Given the description of an element on the screen output the (x, y) to click on. 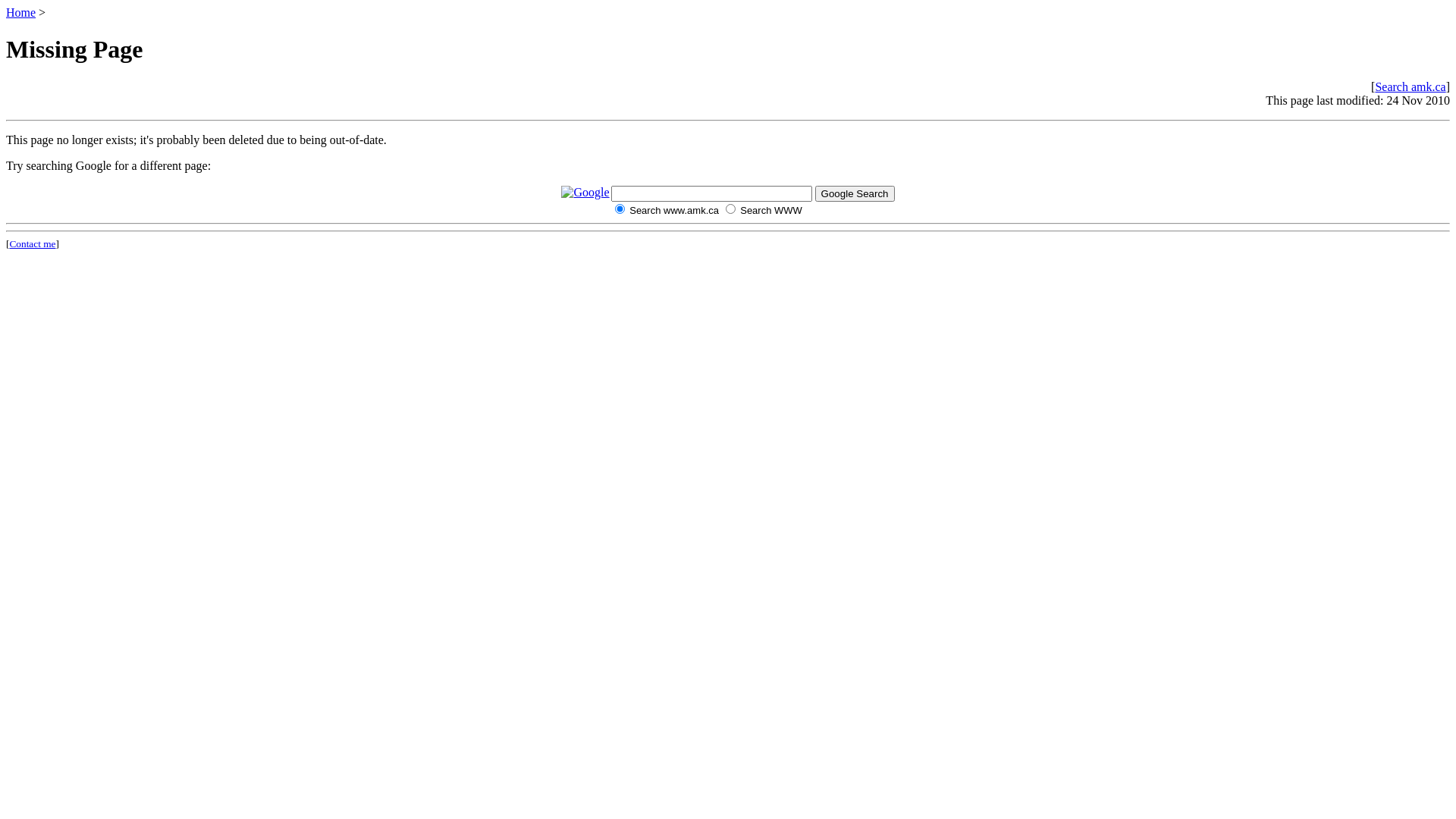
Home Element type: text (20, 12)
Contact me Element type: text (32, 243)
Search amk.ca Element type: text (1409, 86)
Google Search Element type: text (854, 193)
